Given the description of an element on the screen output the (x, y) to click on. 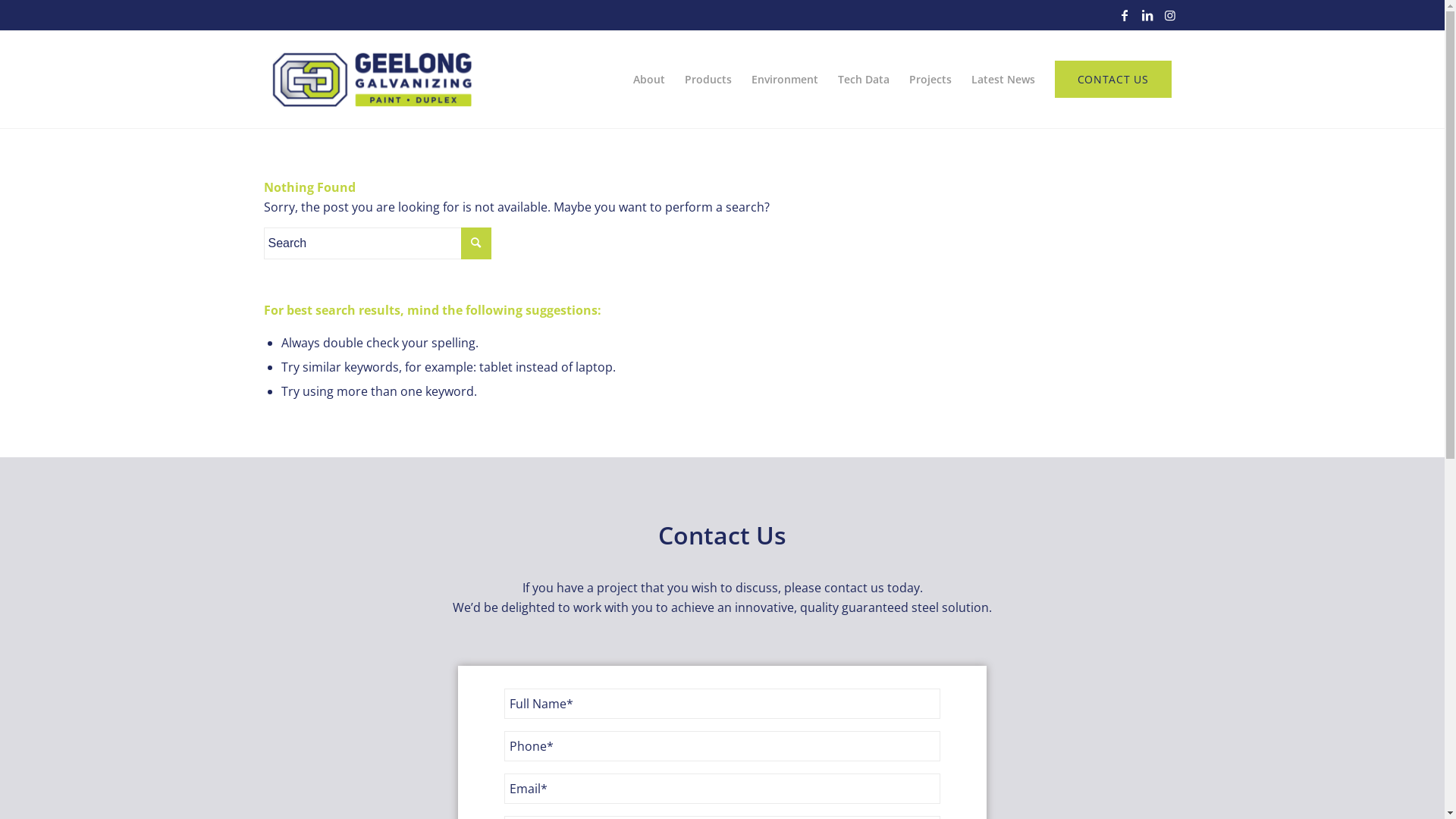
CONTACT US Element type: text (1112, 79)
LinkedIn Element type: hover (1146, 14)
GeelongGalvanizingLogo Element type: hover (371, 79)
Environment Element type: text (784, 79)
Instagram Element type: hover (1169, 14)
Projects Element type: text (930, 79)
Facebook Element type: hover (1124, 14)
Tech Data Element type: text (863, 79)
Latest News Element type: text (1002, 79)
Products Element type: text (707, 79)
About Element type: text (648, 79)
